Given the description of an element on the screen output the (x, y) to click on. 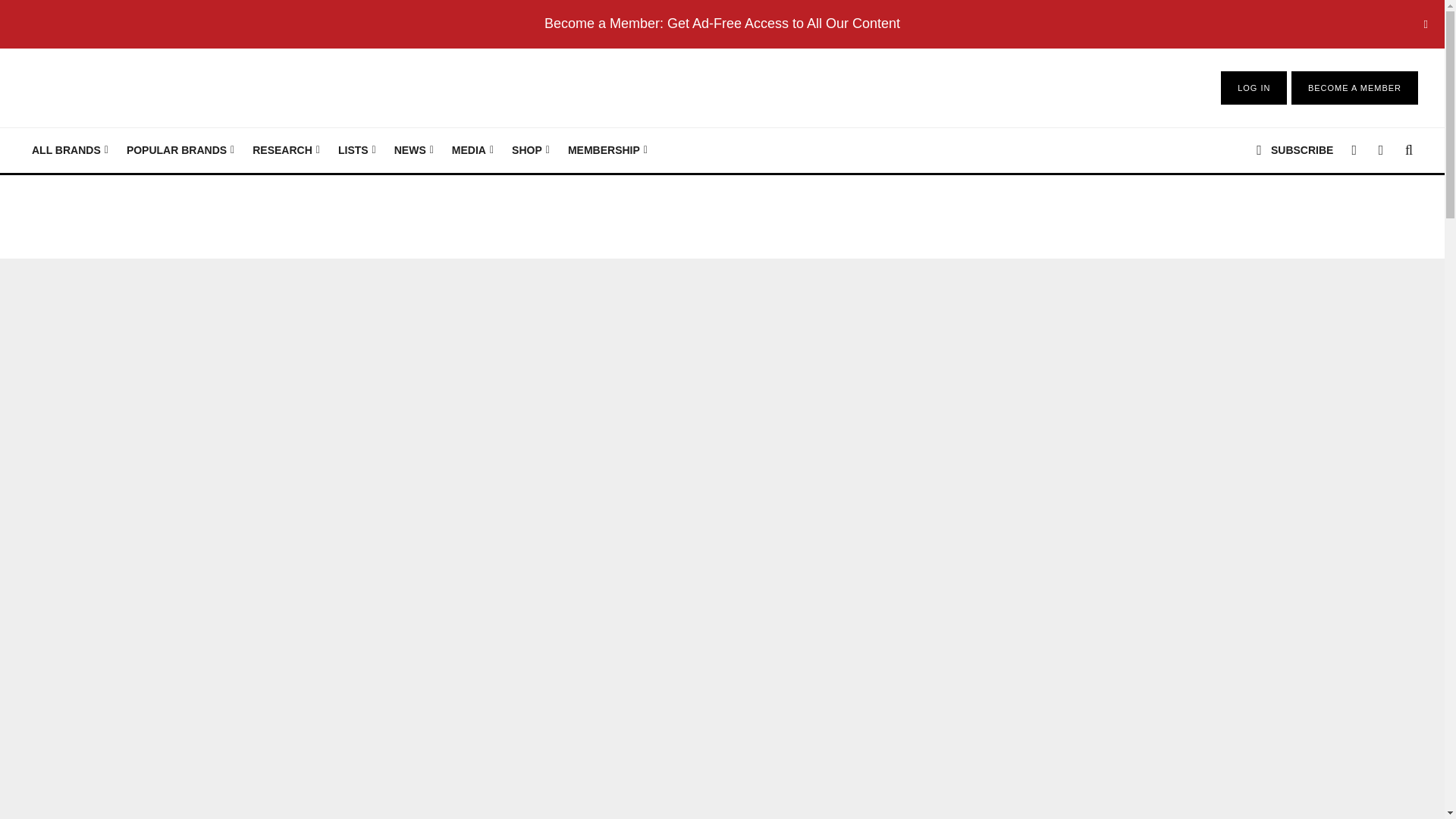
Become a Member: Get Ad-Free Access to All Our Content (721, 23)
ALL BRANDS (70, 149)
Become a Member: Get Ad-Free Access to All Our Content (721, 23)
LOG IN (1253, 87)
BECOME A MEMBER (1353, 87)
